Given the description of an element on the screen output the (x, y) to click on. 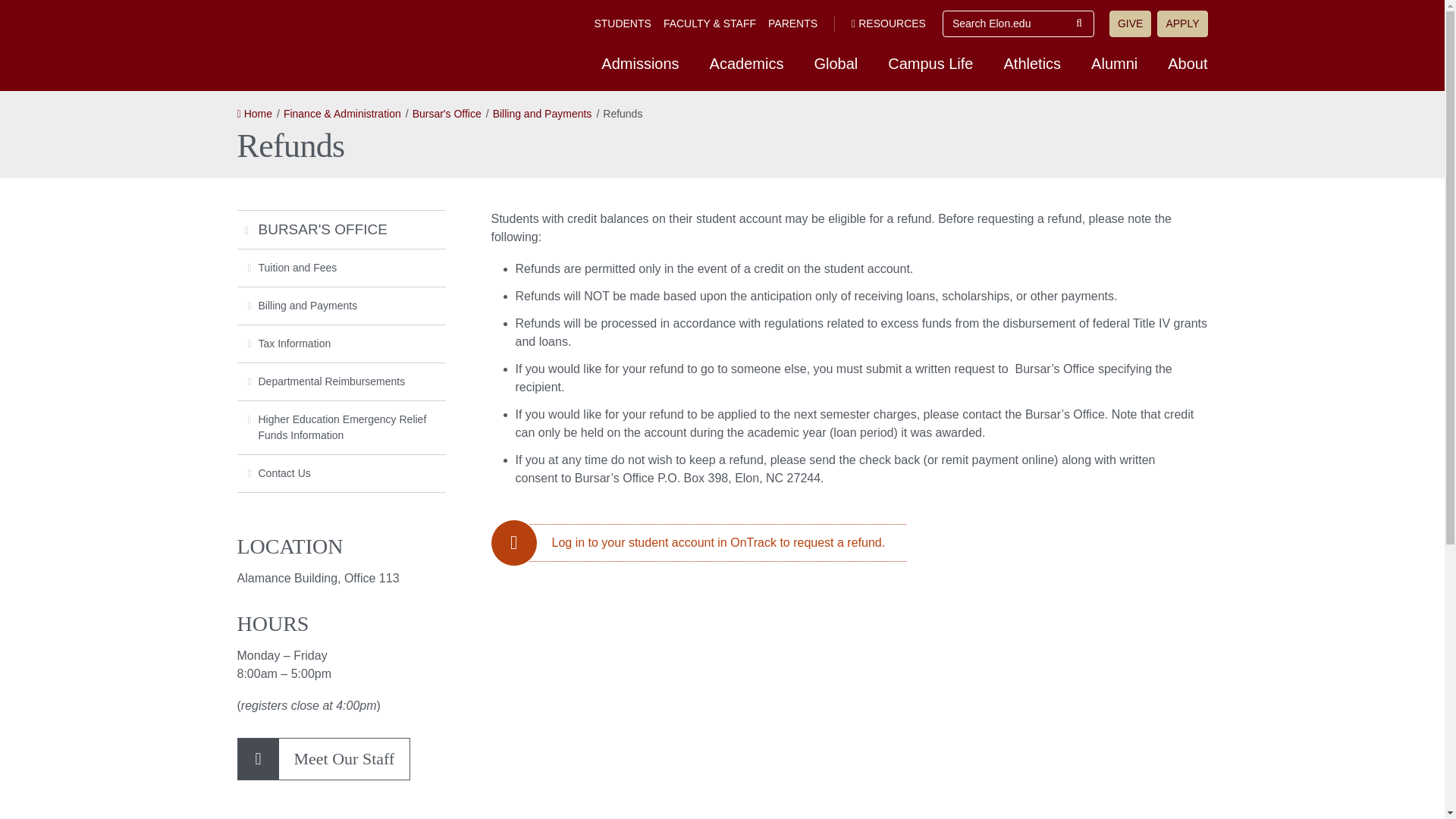
APPLY (1182, 23)
Billing and Payments (340, 305)
Athletics (1032, 63)
Campus Life (930, 63)
Elon University home (338, 44)
Academics (746, 63)
STUDENTS (622, 23)
PARENTS (792, 23)
Alumni (1114, 63)
